Given the description of an element on the screen output the (x, y) to click on. 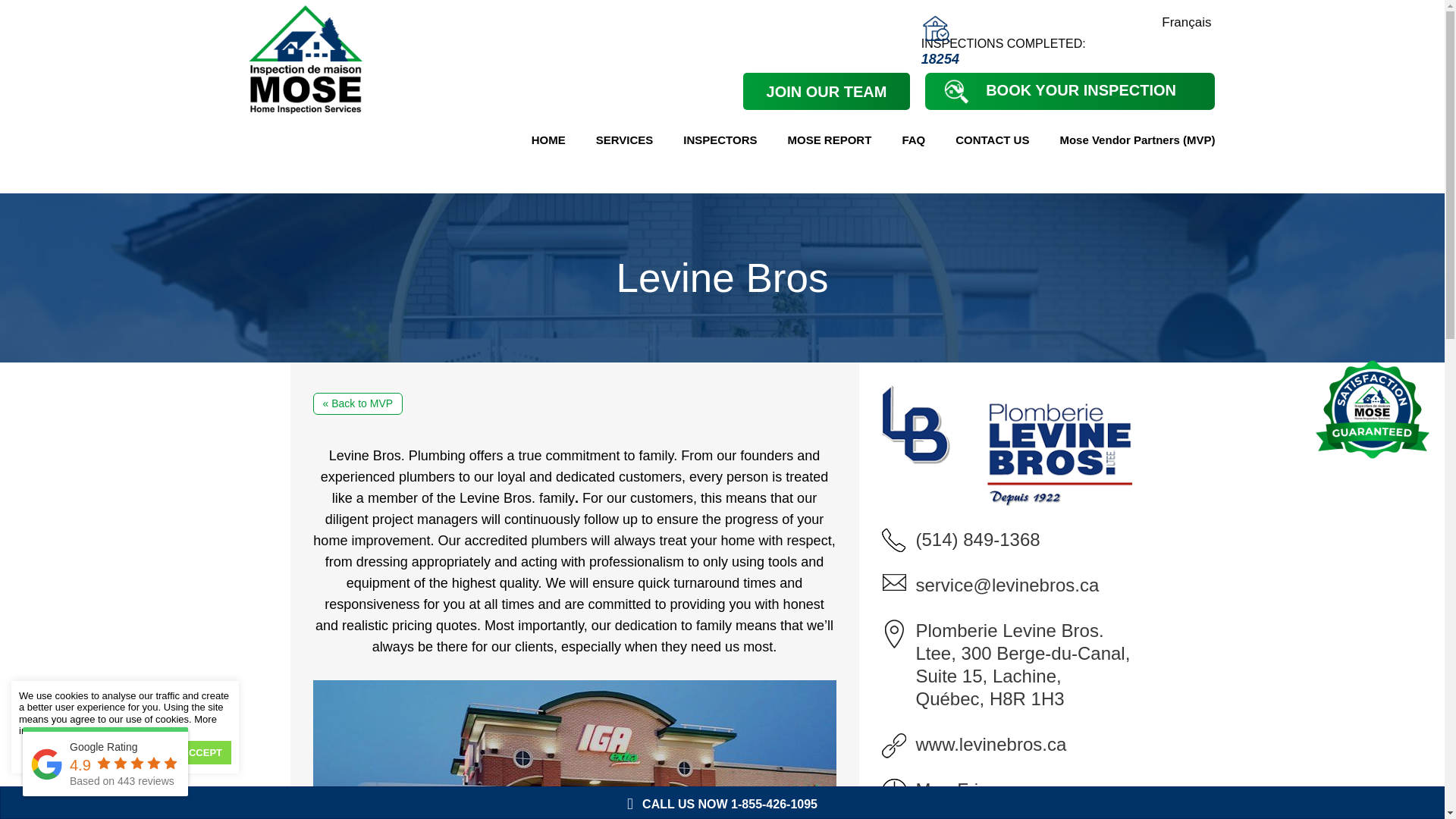
Mose-Guaranteed-Badge (1372, 409)
home-icon-header-02 (936, 29)
CONTACT US (991, 140)
JOIN OUR TEAM (826, 90)
www.levinebros.ca (991, 743)
INSPECTORS (719, 140)
SERVICES (624, 140)
MOSE REPORT (829, 140)
mose-home-inspection-logo-01 (304, 58)
HOME (548, 140)
icon-book-01 (955, 90)
FAQ (913, 140)
